Given the description of an element on the screen output the (x, y) to click on. 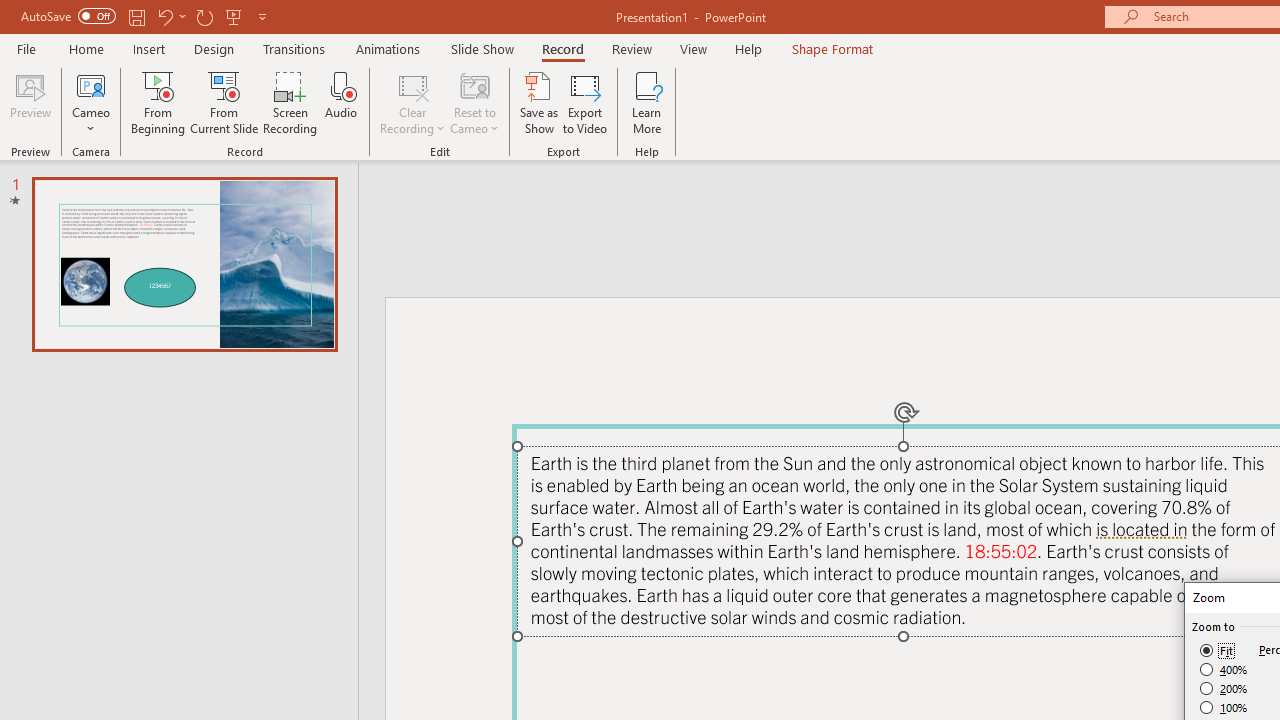
Fit (1217, 650)
200% (1224, 688)
